Given the description of an element on the screen output the (x, y) to click on. 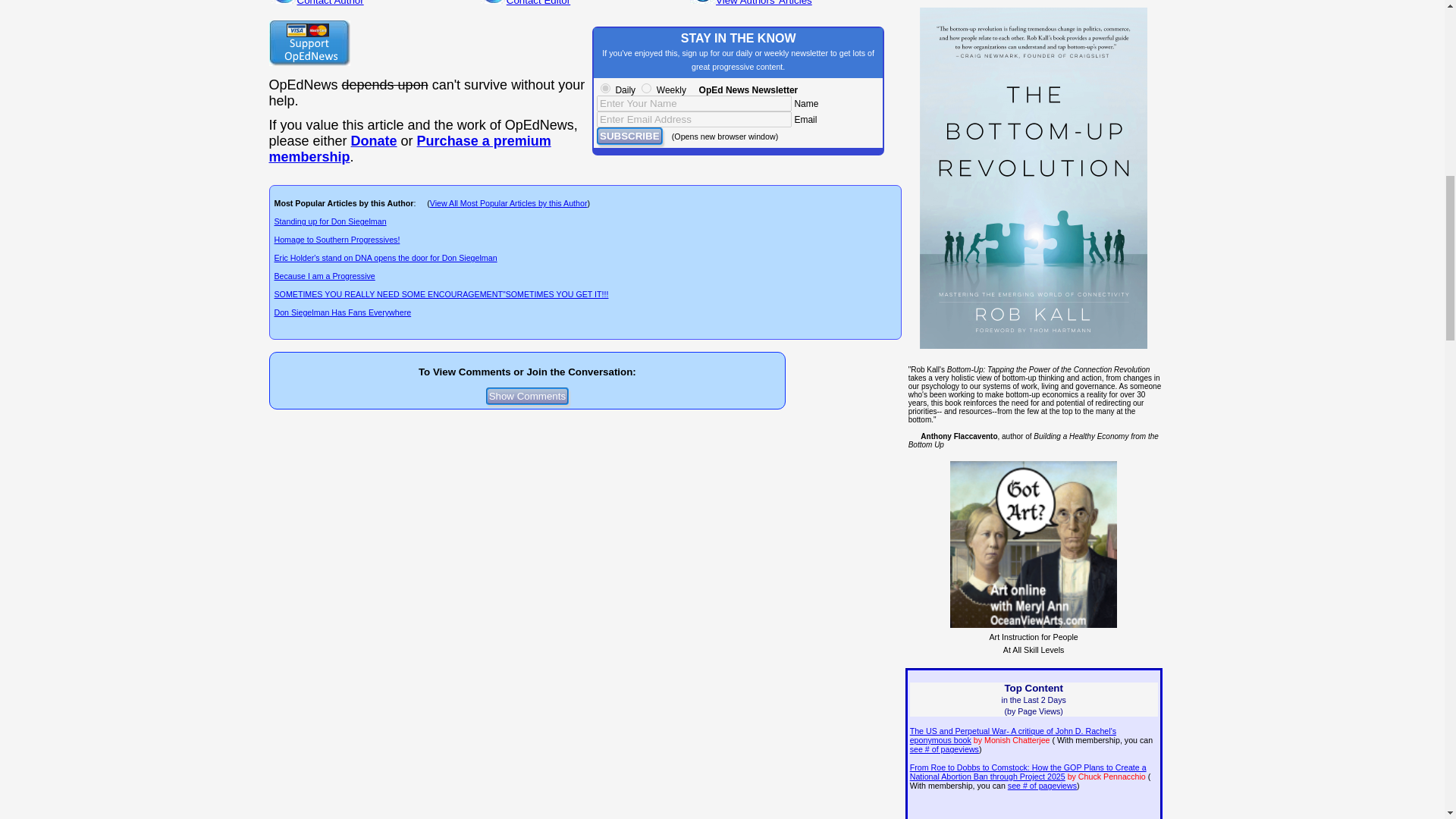
Donate (373, 140)
Enter Your Name (694, 103)
Contact Editor (538, 2)
Contact Author (330, 2)
-- (408, 148)
SUBSCRIBE (629, 135)
Show Comments (527, 395)
Daily (604, 88)
View Authors' Articles (764, 2)
Enter Email Address (694, 119)
